Given the description of an element on the screen output the (x, y) to click on. 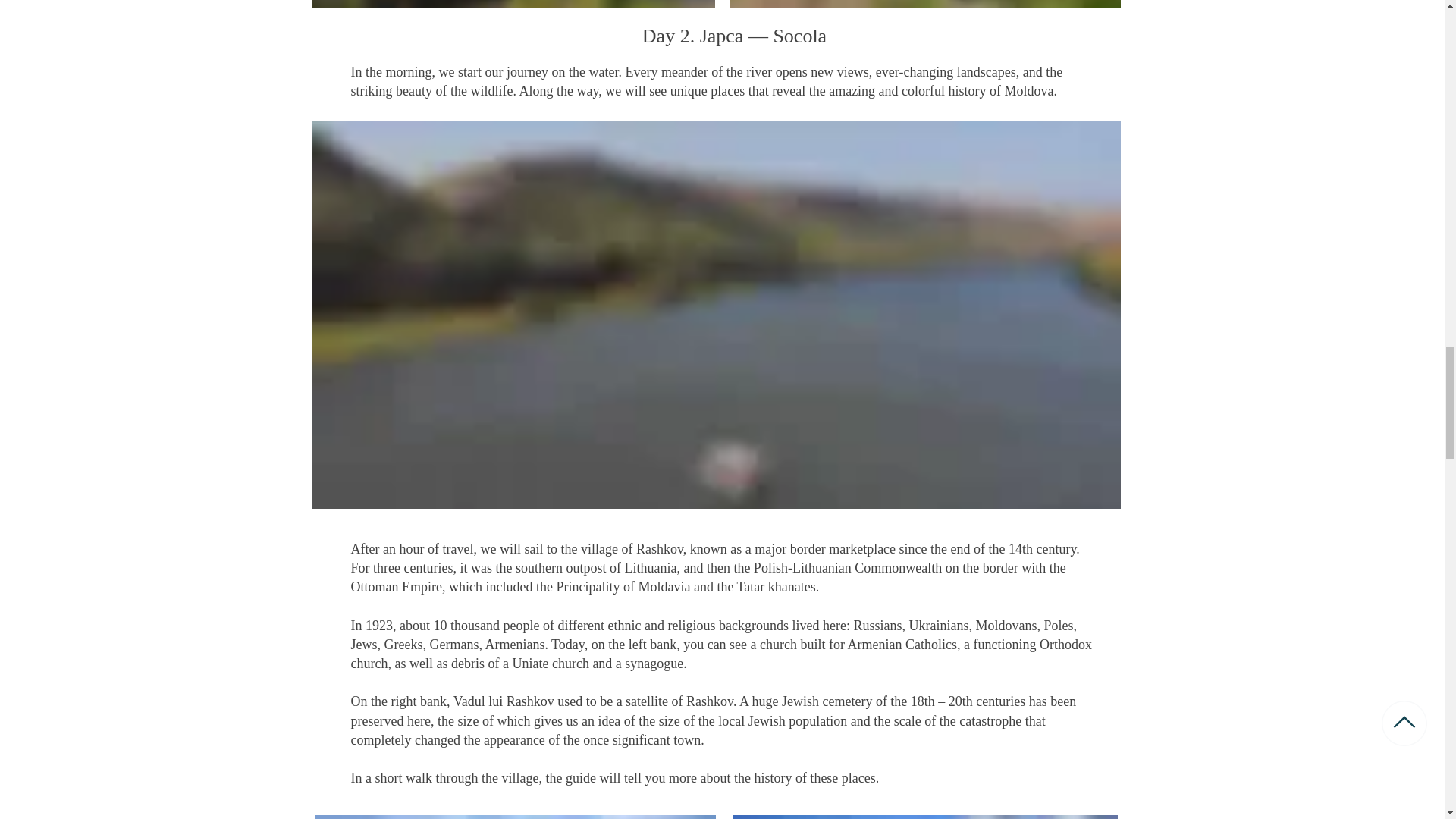
the Ascension Monastery from Japca, Moldova (925, 4)
